Given the description of an element on the screen output the (x, y) to click on. 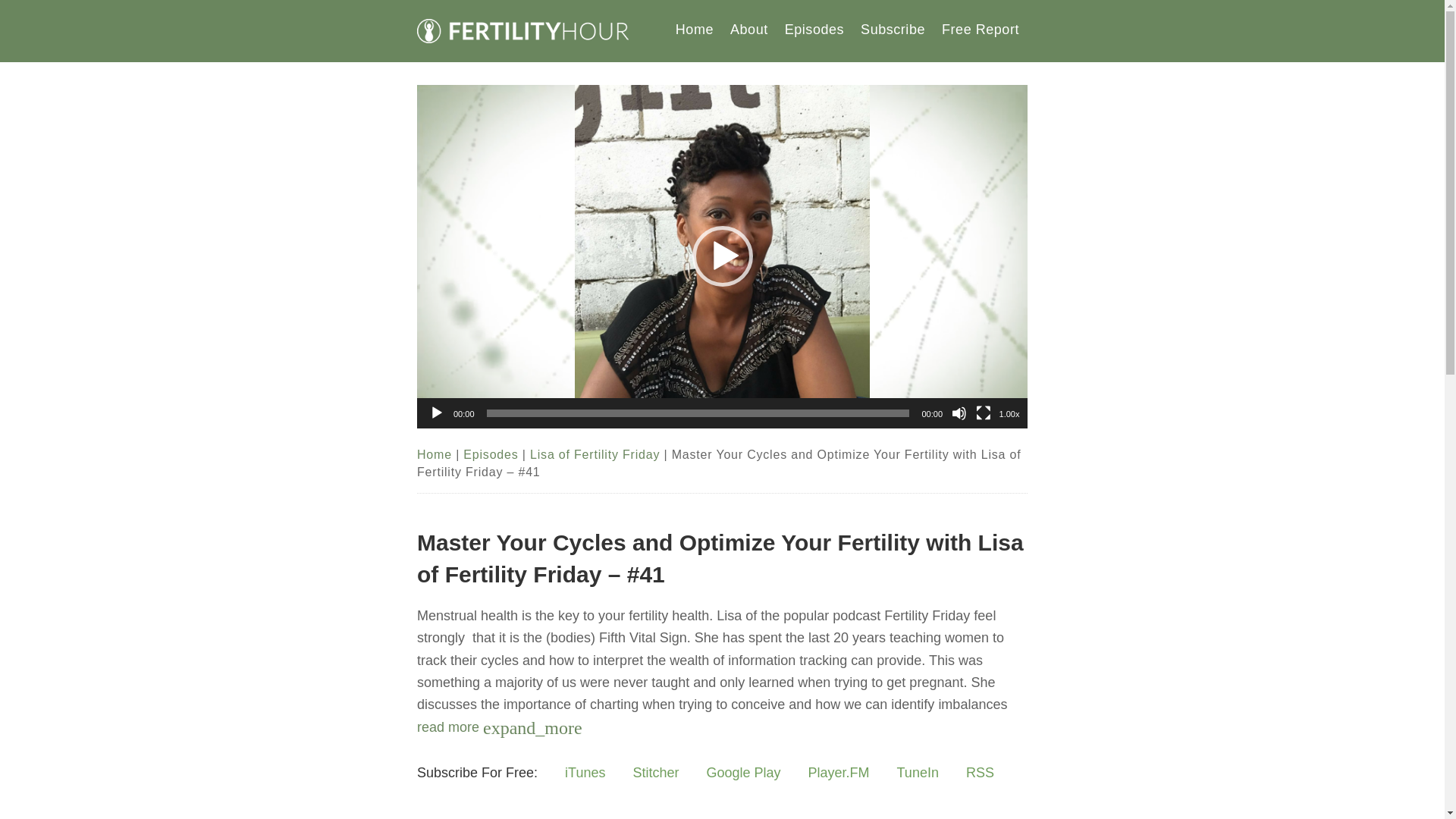
Subscribe (892, 29)
Stitcher (655, 772)
Free Report (980, 29)
Play (436, 412)
Speed Rate (1009, 413)
Lisa of Fertility Friday (594, 454)
RSS (979, 772)
About (749, 29)
Fullscreen (983, 412)
Subscribe For Free: (483, 772)
